Given the description of an element on the screen output the (x, y) to click on. 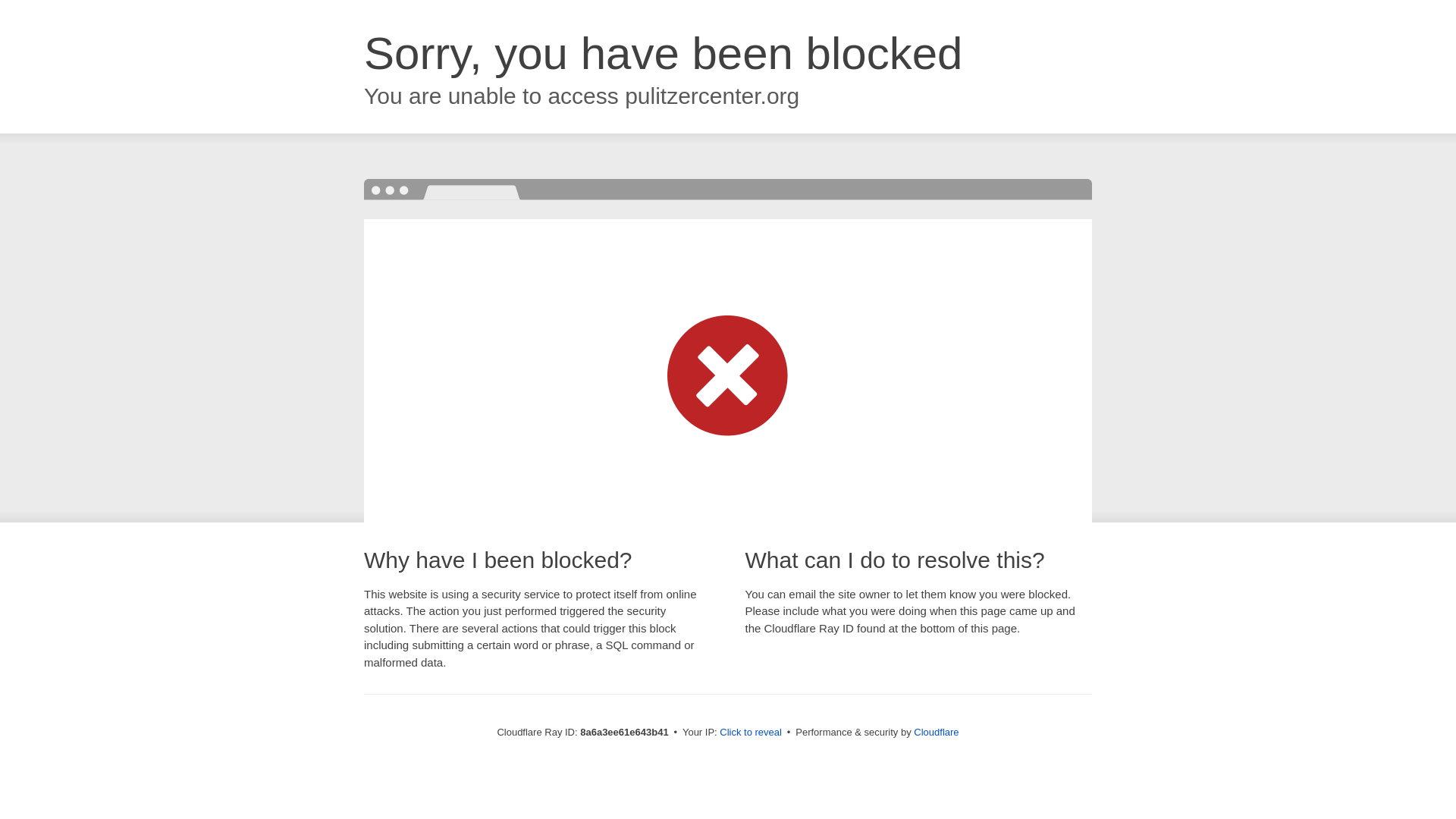
Click to reveal (750, 732)
Cloudflare (936, 731)
